Given the description of an element on the screen output the (x, y) to click on. 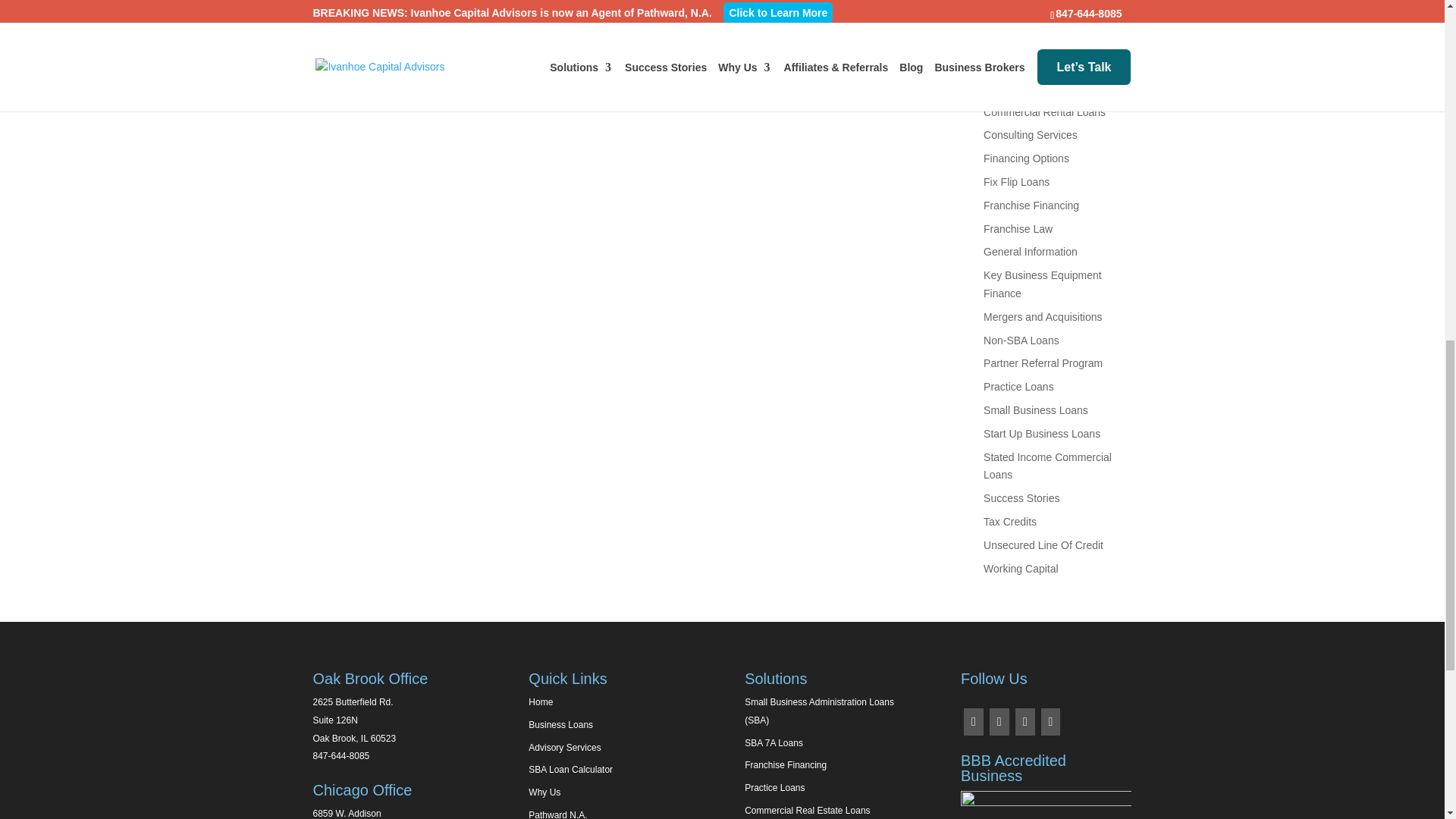
BBB Accredited Business (1045, 804)
